Given the description of an element on the screen output the (x, y) to click on. 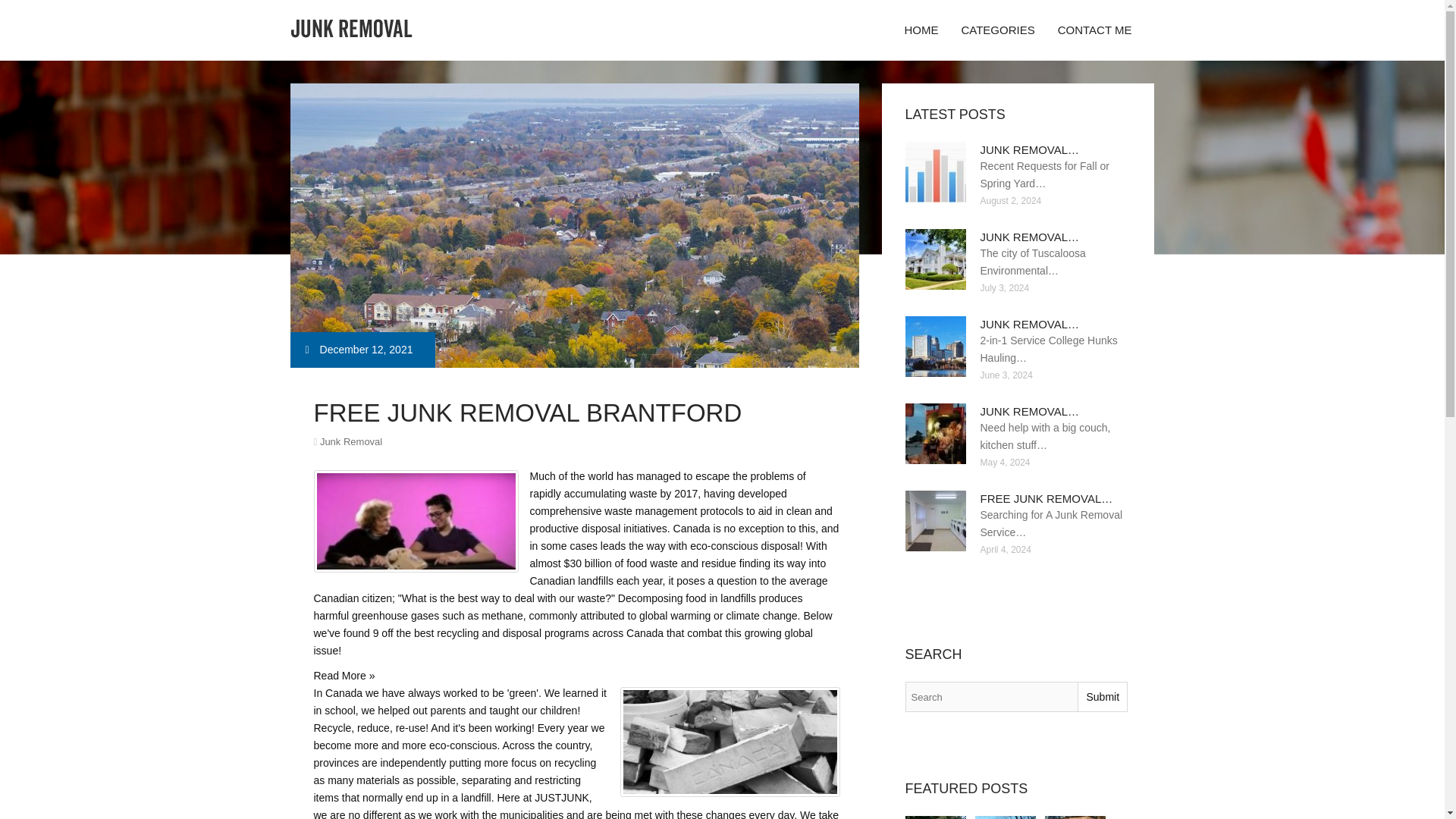
Free Junk Removal service Toronto (1005, 817)
Submit (1101, 696)
Free Junk Removal Services (935, 817)
CATEGORIES (997, 30)
Submit (1101, 696)
Junk Removal (350, 441)
HOME (920, 30)
Clutter free Junk Removal service (1075, 817)
CONTACT ME (1094, 30)
